Given the description of an element on the screen output the (x, y) to click on. 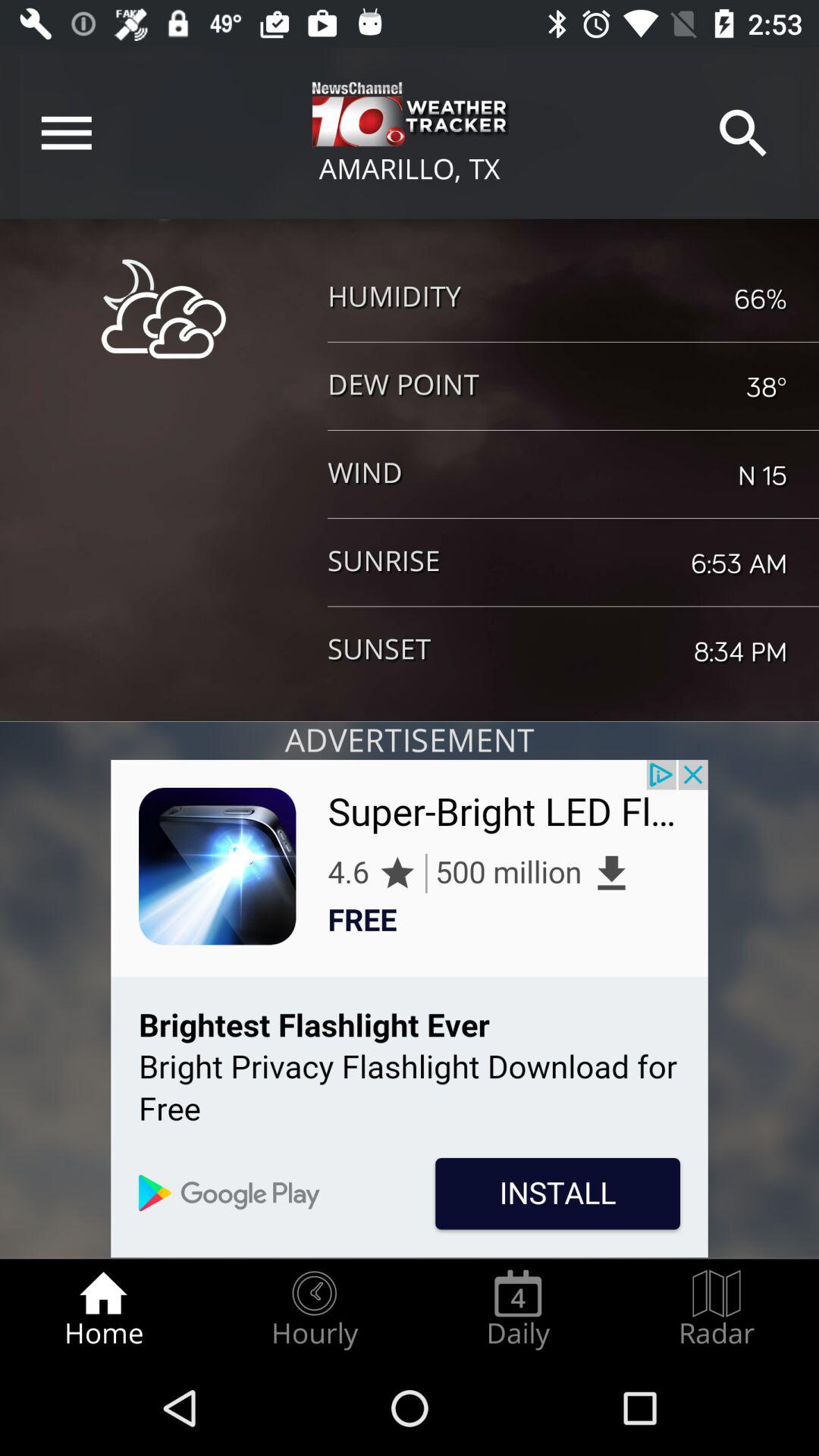
swipe to home radio button (103, 1309)
